Given the description of an element on the screen output the (x, y) to click on. 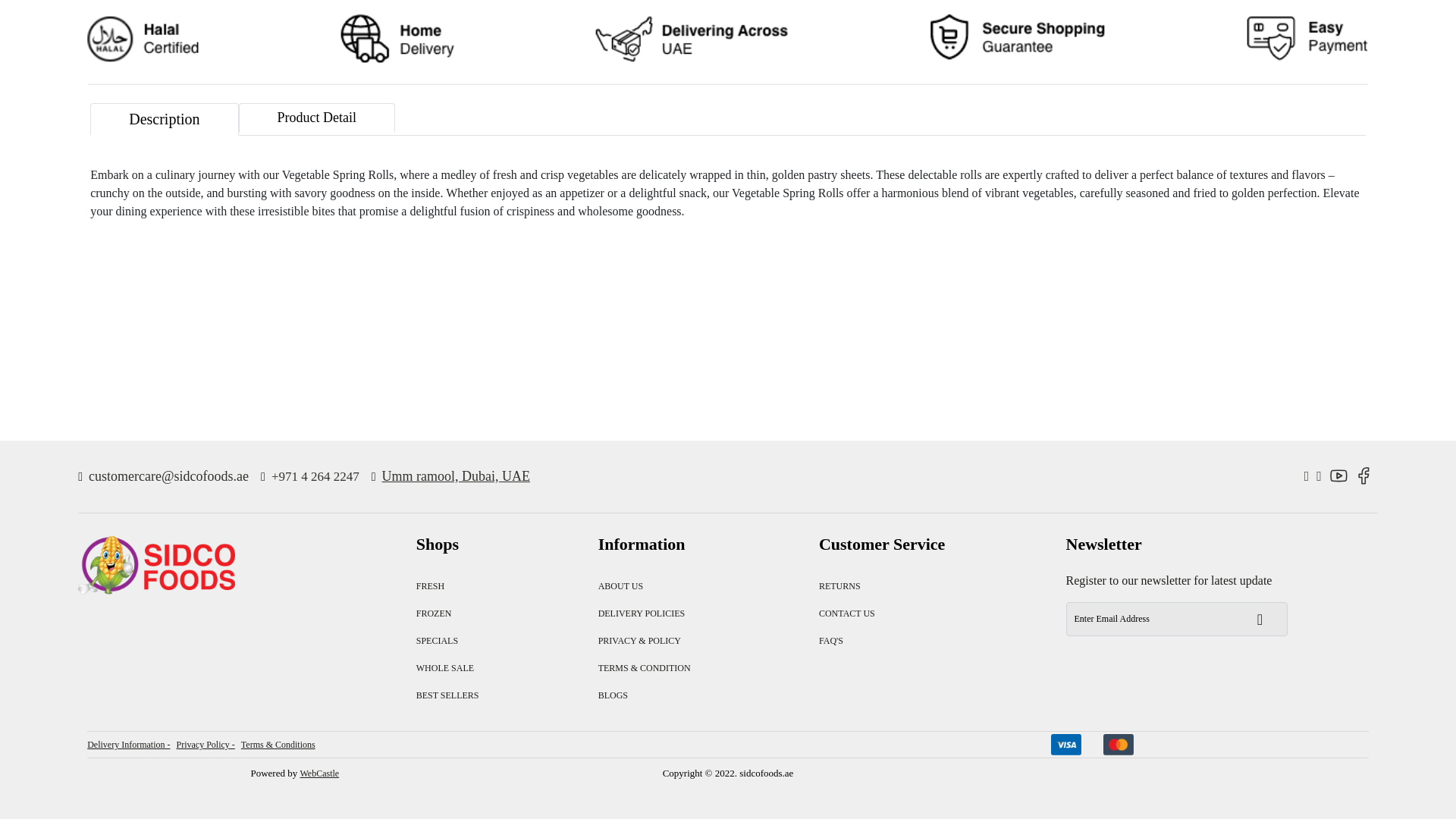
Privacy Policy - (205, 744)
WHOLE SALE (445, 667)
Delivery Information - (128, 744)
CONTACT US (846, 613)
Description (164, 119)
BLOGS (612, 695)
SPECIALS (437, 640)
FRESH (430, 585)
BEST SELLERS (447, 695)
Product Detail (316, 117)
